Given the description of an element on the screen output the (x, y) to click on. 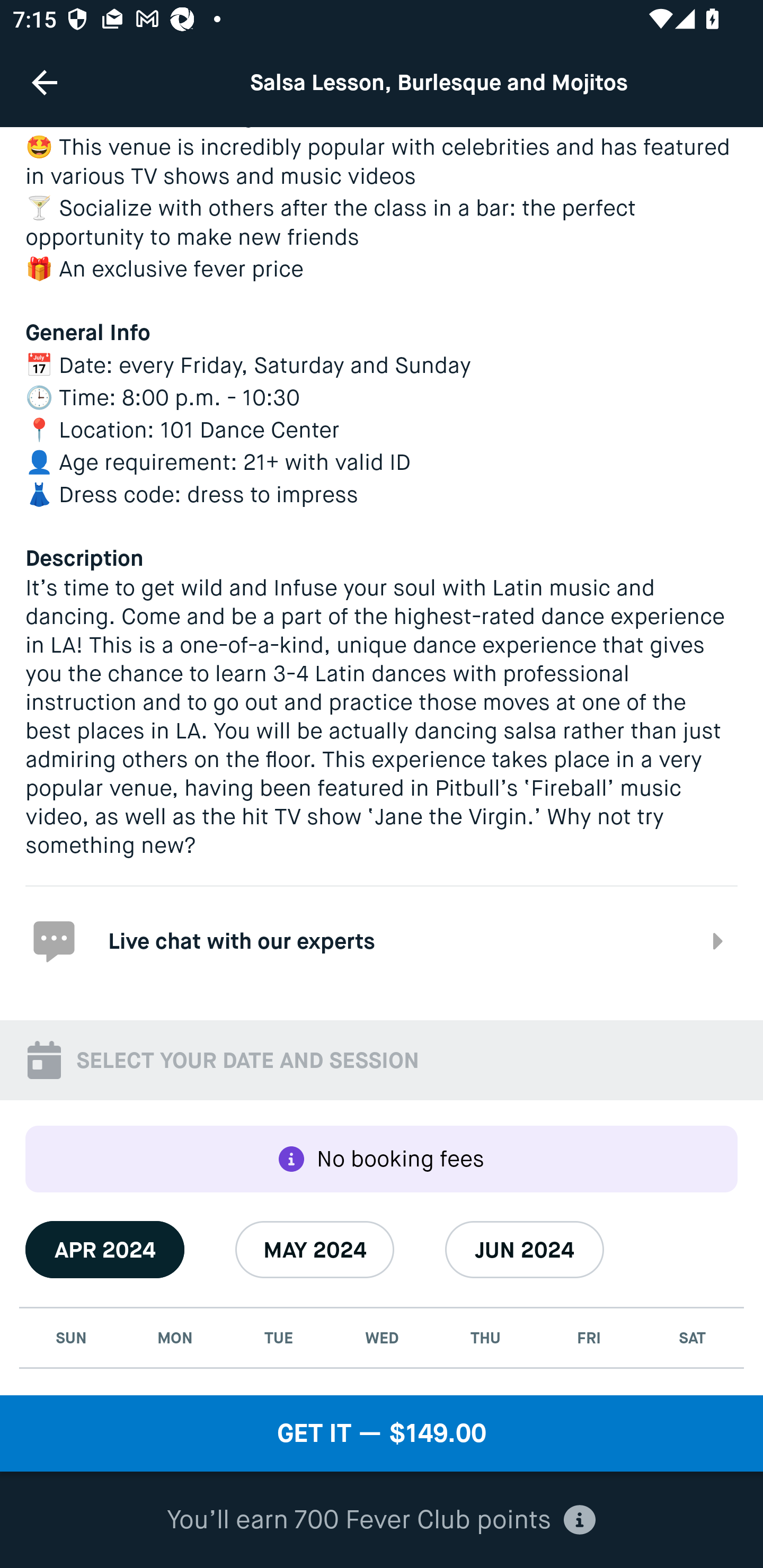
Navigate up (44, 82)
Live chat with our experts (381, 939)
APR 2024 (104, 1249)
MAY 2024 (314, 1249)
JUN 2024 (524, 1249)
GET IT — $149.00 (381, 1433)
You’ll earn 700 Fever Club points (381, 1519)
